Given the description of an element on the screen output the (x, y) to click on. 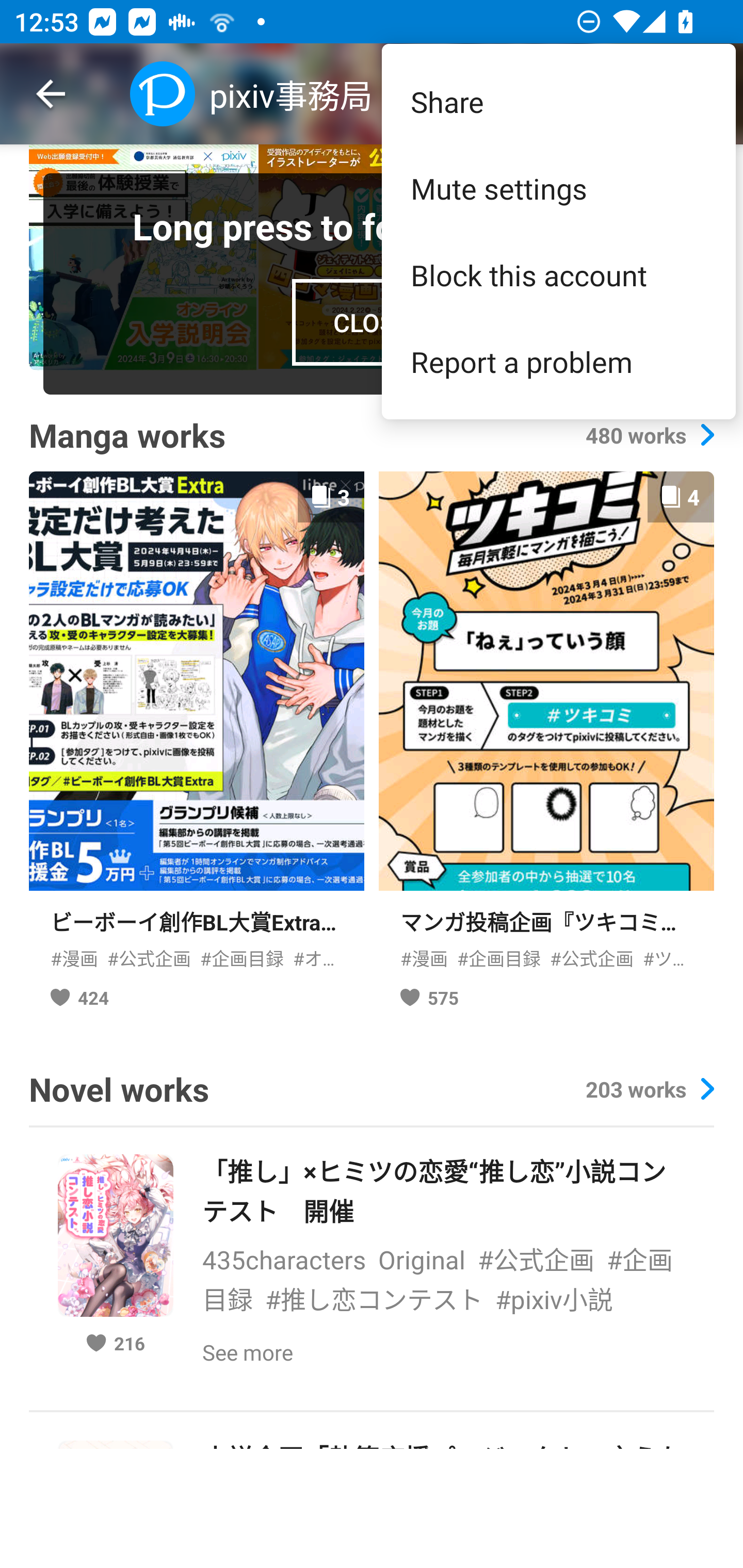
Share (558, 101)
Mute settings (558, 188)
Block this account (558, 275)
Report a problem (558, 361)
